Given the description of an element on the screen output the (x, y) to click on. 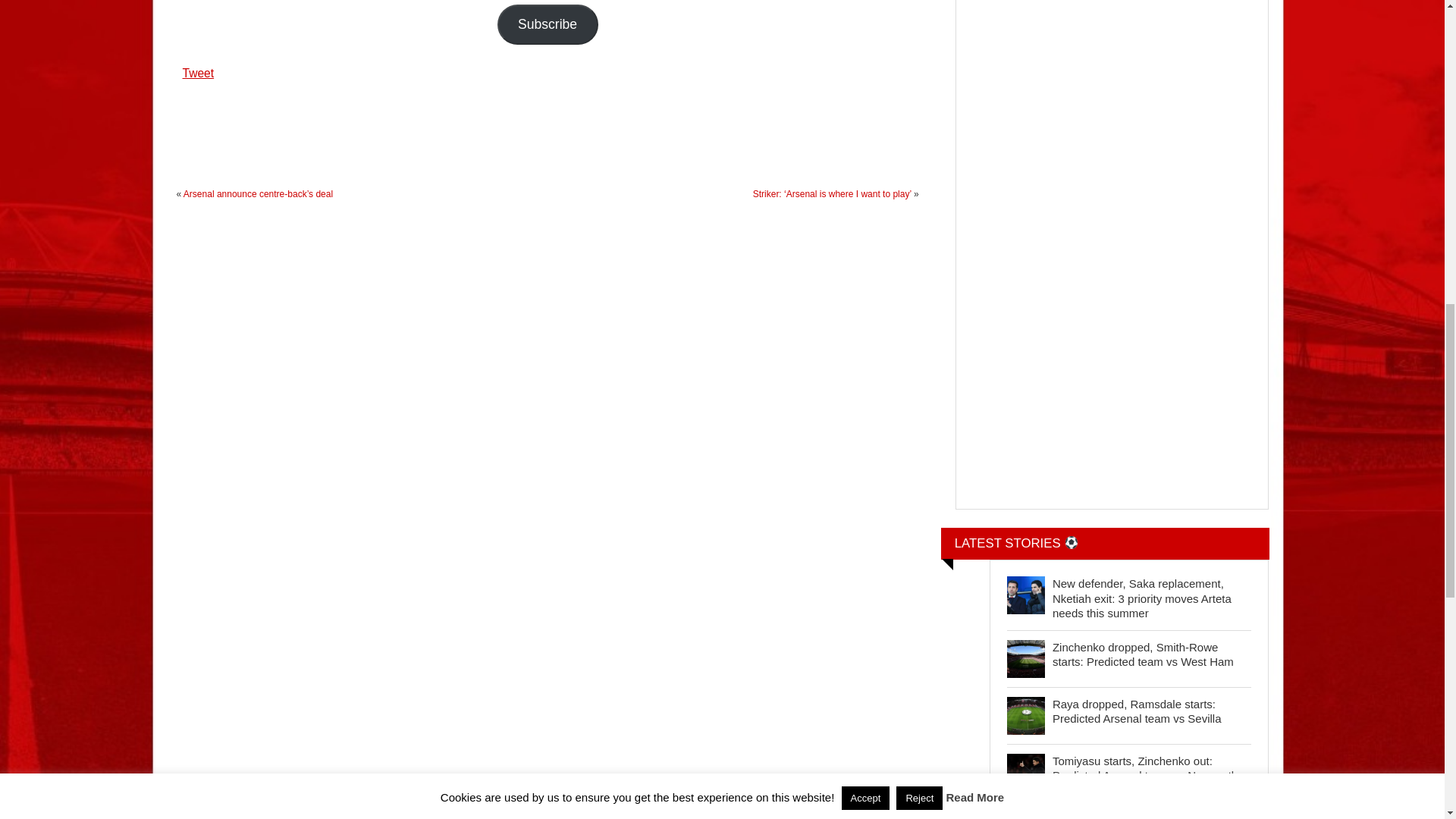
Subscribe (547, 24)
Tweet (198, 69)
